Given the description of an element on the screen output the (x, y) to click on. 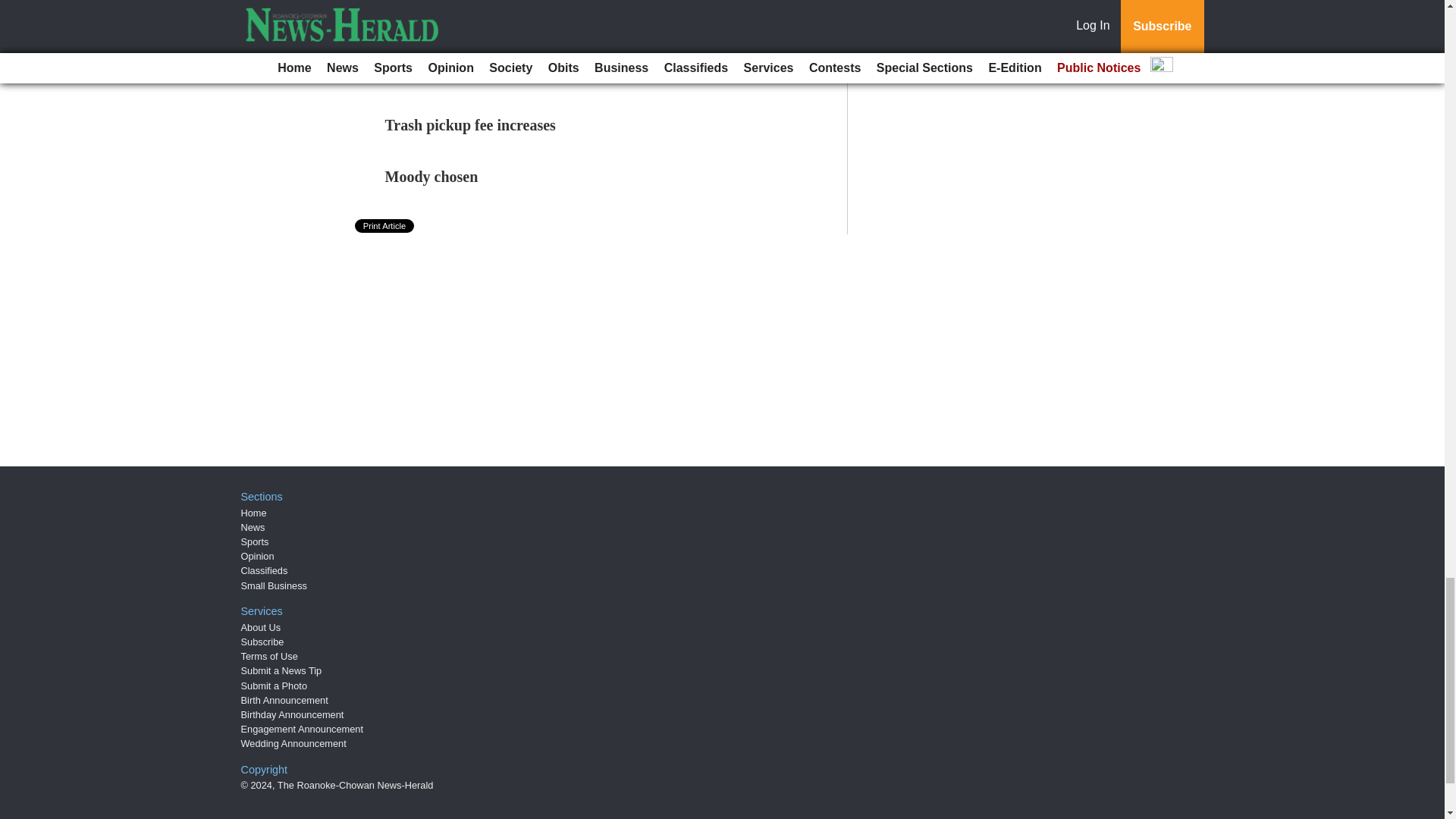
Moody chosen (432, 176)
Windsor man dies in officer involved shooting (533, 6)
Trash pickup fee increases (470, 125)
Windsor man dies in officer involved shooting (533, 6)
